Given the description of an element on the screen output the (x, y) to click on. 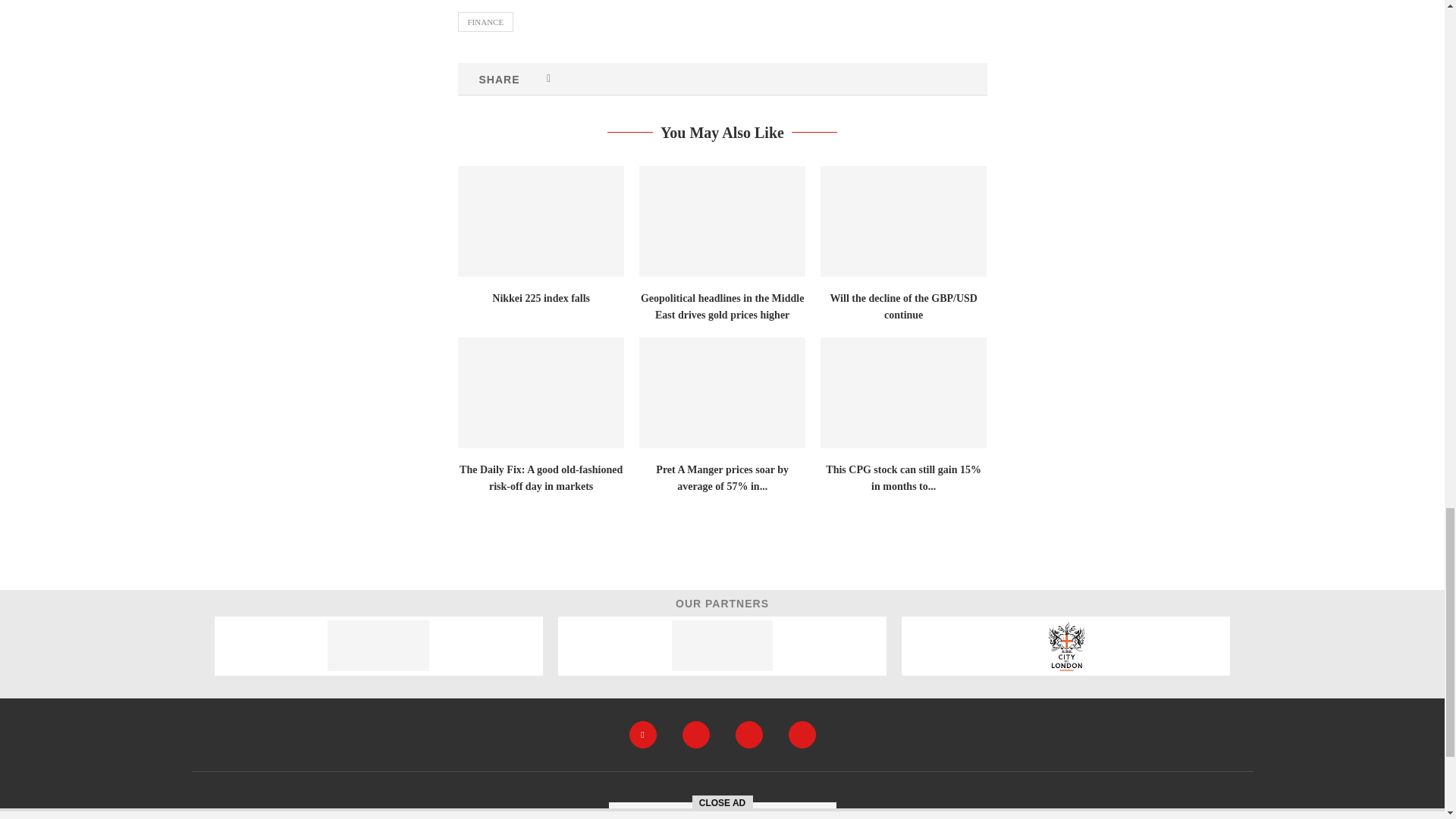
The Daily Fix: A good old-fashioned risk-off day in markets (541, 392)
Nikkei 225 index falls (541, 221)
